Given the description of an element on the screen output the (x, y) to click on. 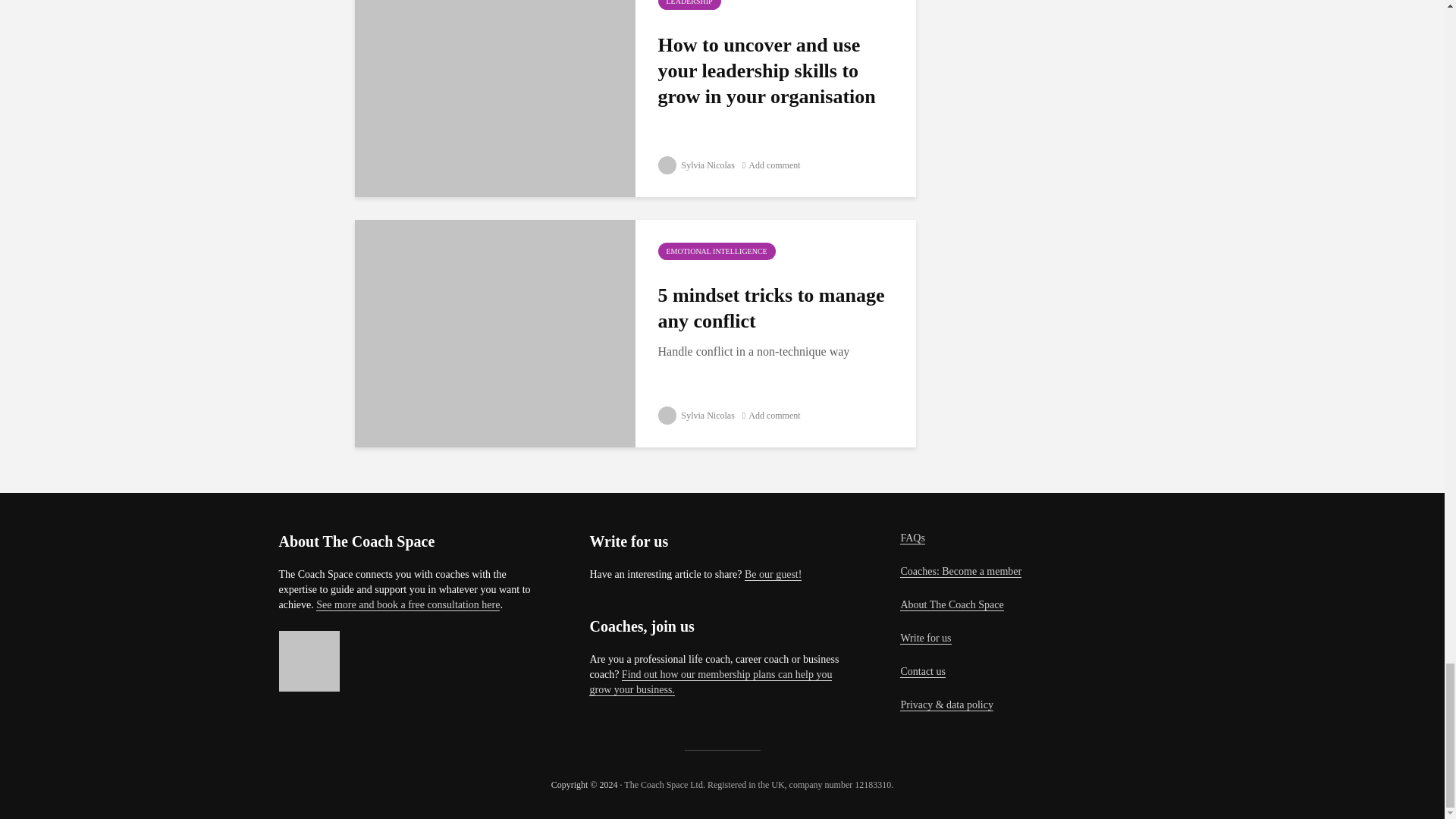
5 mindset tricks to manage any conflict (494, 331)
LEADERSHIP (689, 4)
